Given the description of an element on the screen output the (x, y) to click on. 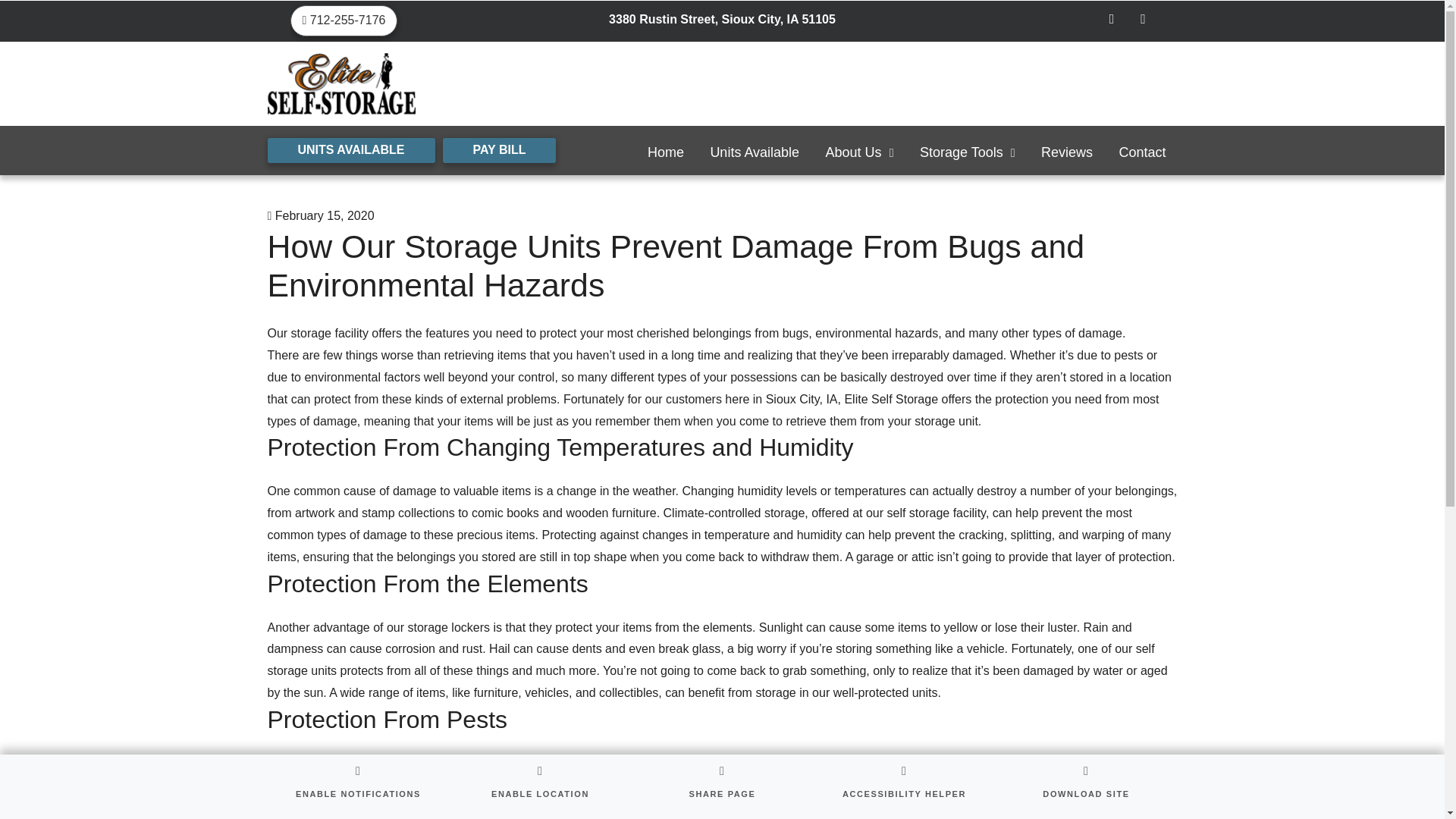
Units Available (754, 157)
facebook (1111, 20)
Elite Self Storage (890, 399)
Call Us (343, 20)
Accessibility Helper (903, 786)
SHARE PAGE (721, 786)
Download Site (1085, 786)
Reviews (1066, 157)
linkedin (1142, 20)
DOWNLOAD SITE (1085, 786)
ENABLE LOCATION (539, 786)
Home (665, 157)
Share Page (721, 786)
Storage Tools (967, 157)
UNITS AVAILABLE (349, 150)
